Given the description of an element on the screen output the (x, y) to click on. 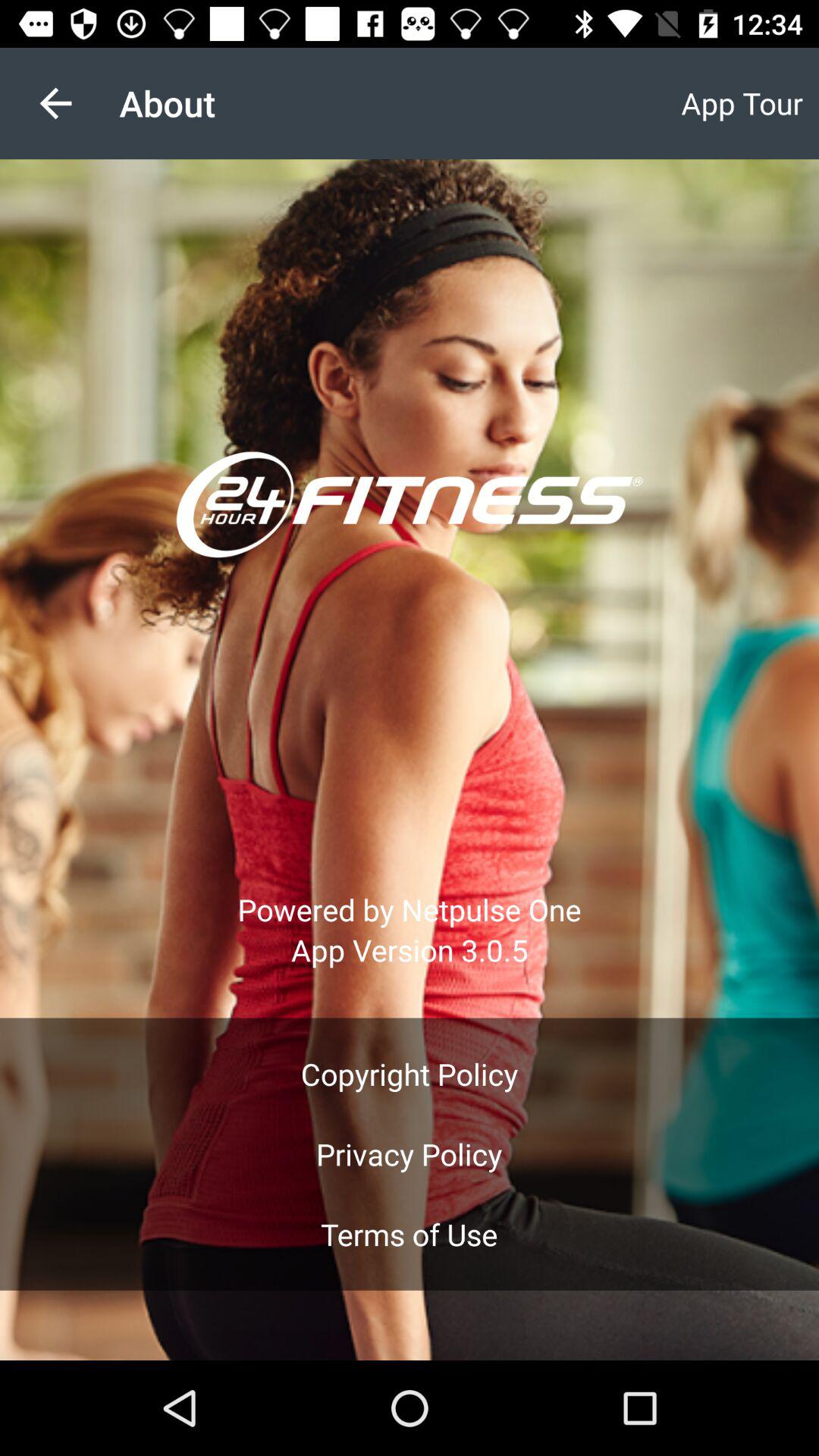
press the icon next to the about item (55, 103)
